Given the description of an element on the screen output the (x, y) to click on. 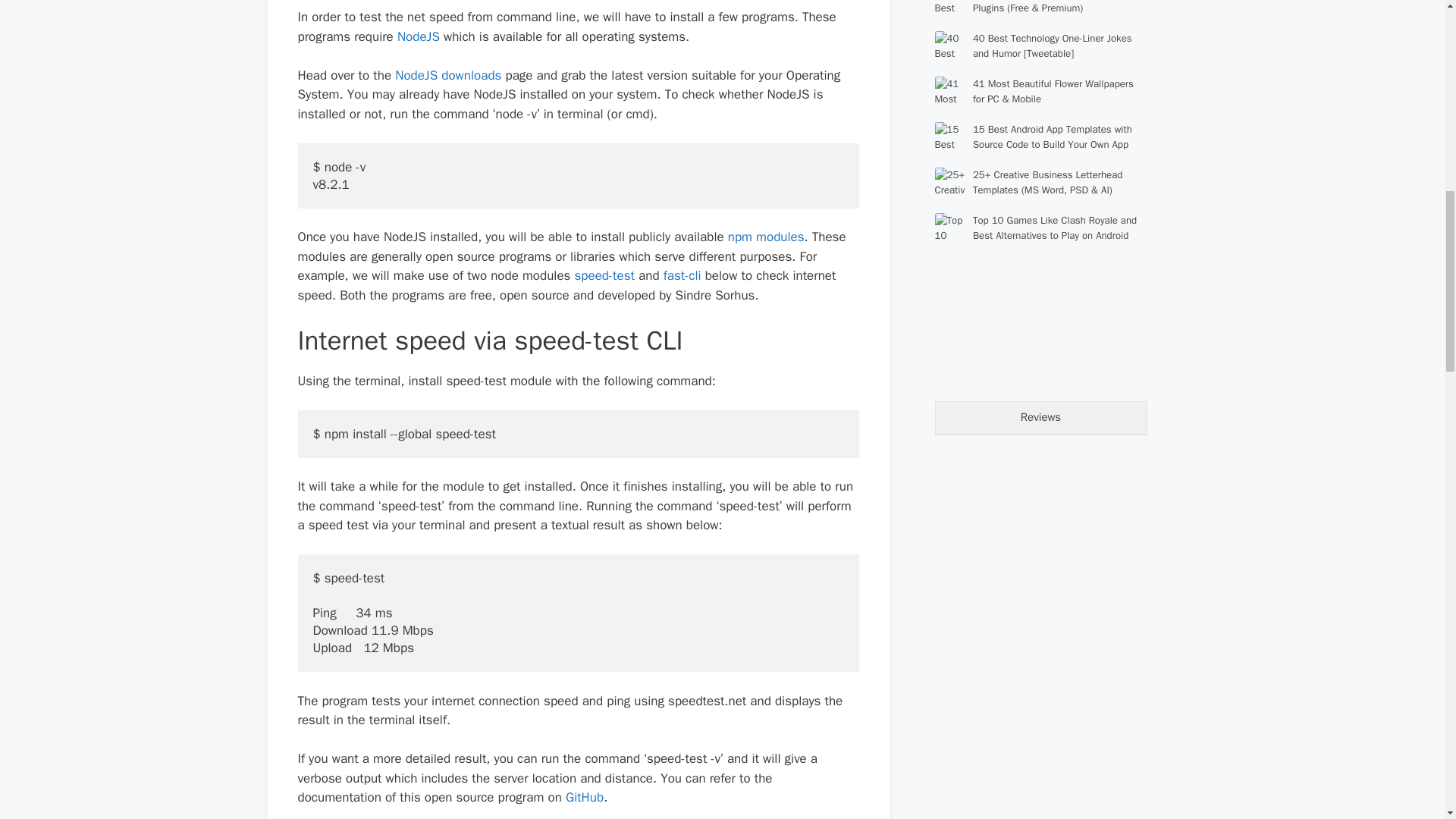
speed-test (604, 275)
fast-cli (682, 275)
GitHub (585, 797)
NodeJS (418, 36)
npm modules (766, 236)
NodeJS downloads (447, 75)
